Given the description of an element on the screen output the (x, y) to click on. 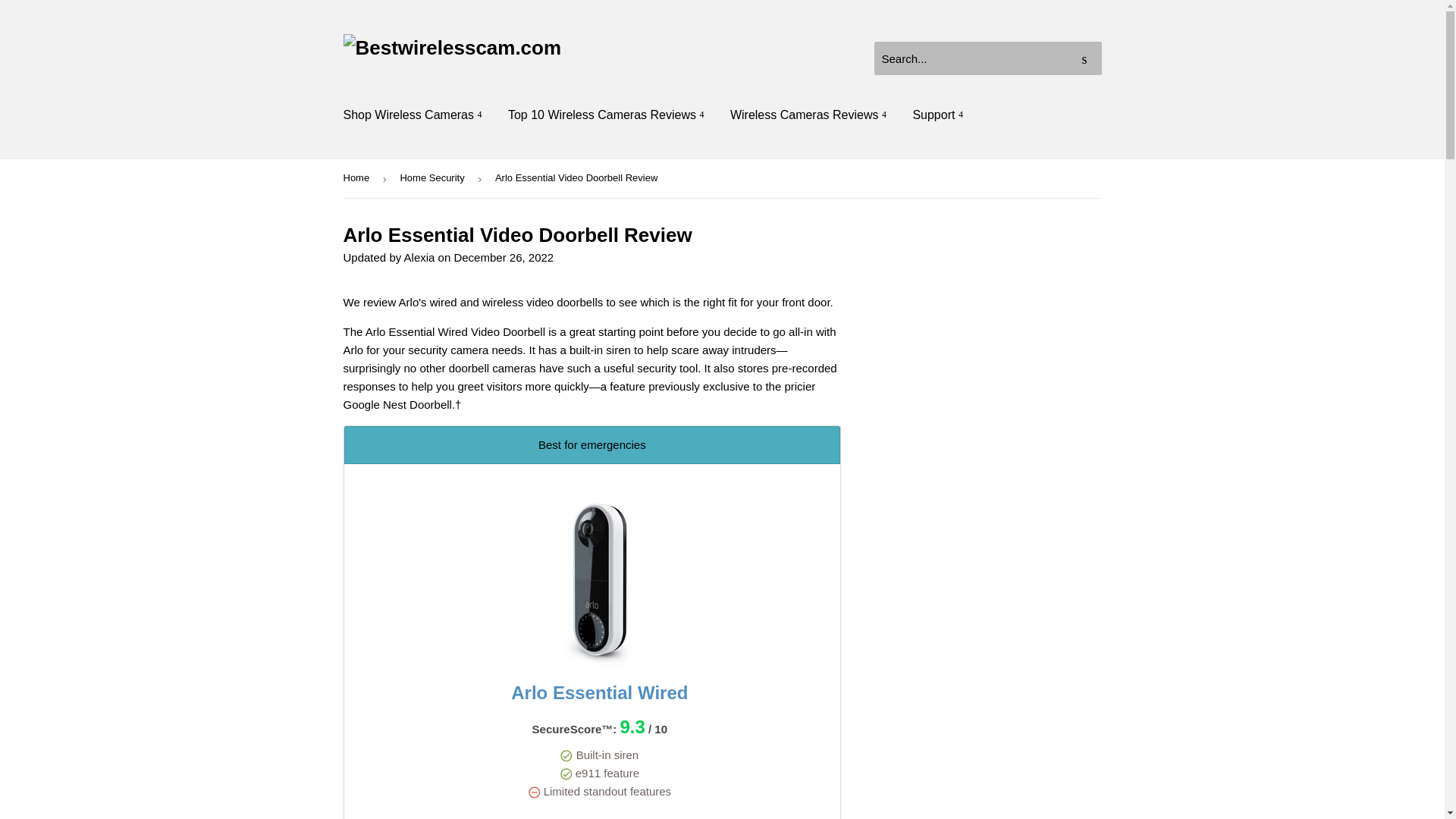
Search (1084, 59)
Back to the frontpage (358, 178)
